Given the description of an element on the screen output the (x, y) to click on. 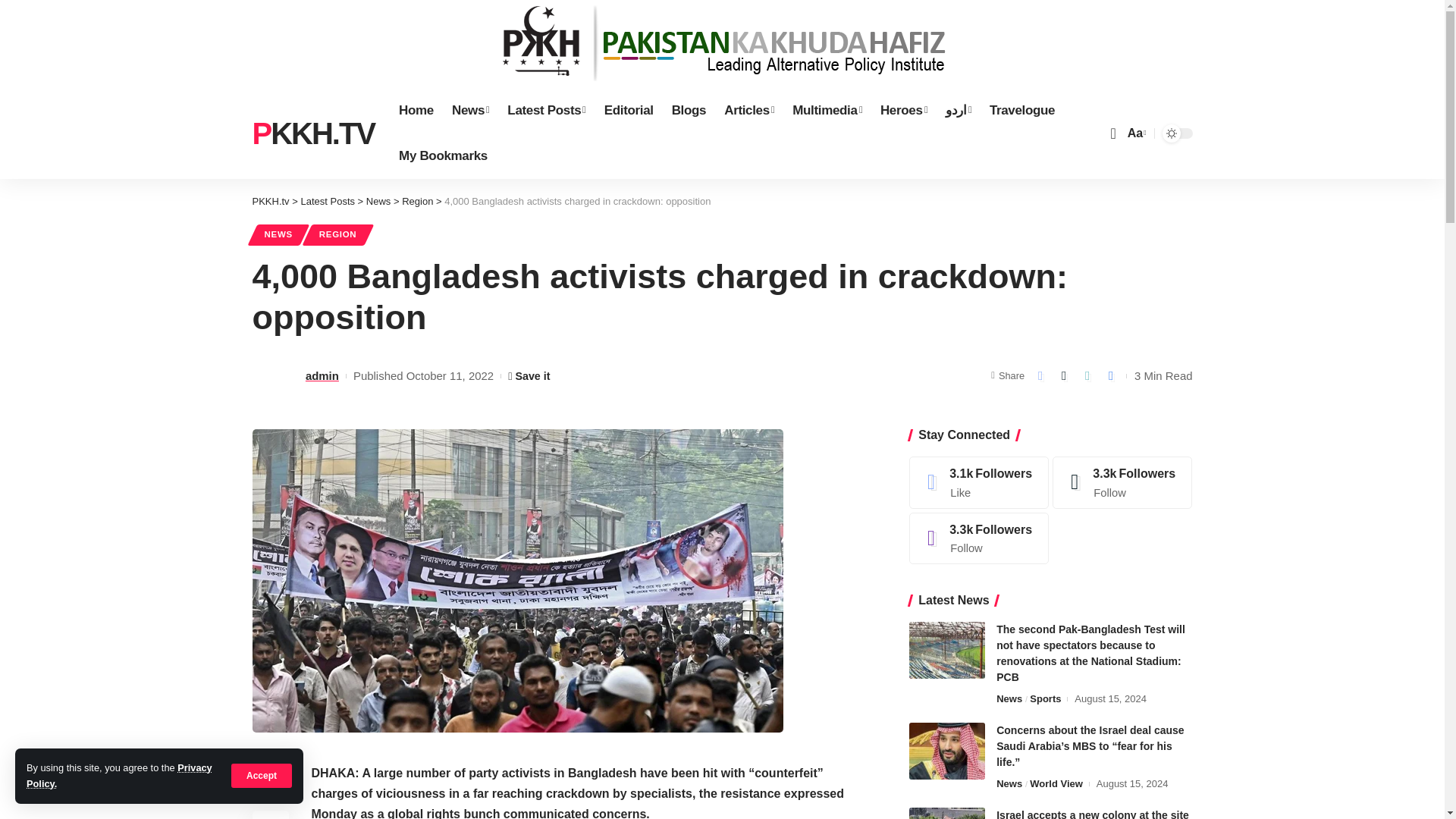
Go to Latest Posts. (327, 201)
Editorial (628, 110)
Go to PKKH.tv. (269, 201)
Articles (748, 110)
Privacy Policy. (119, 775)
Go to the Region Category archives. (416, 201)
Accept (261, 775)
Home (416, 110)
Multimedia (826, 110)
PKKH.tv (312, 133)
